Given the description of an element on the screen output the (x, y) to click on. 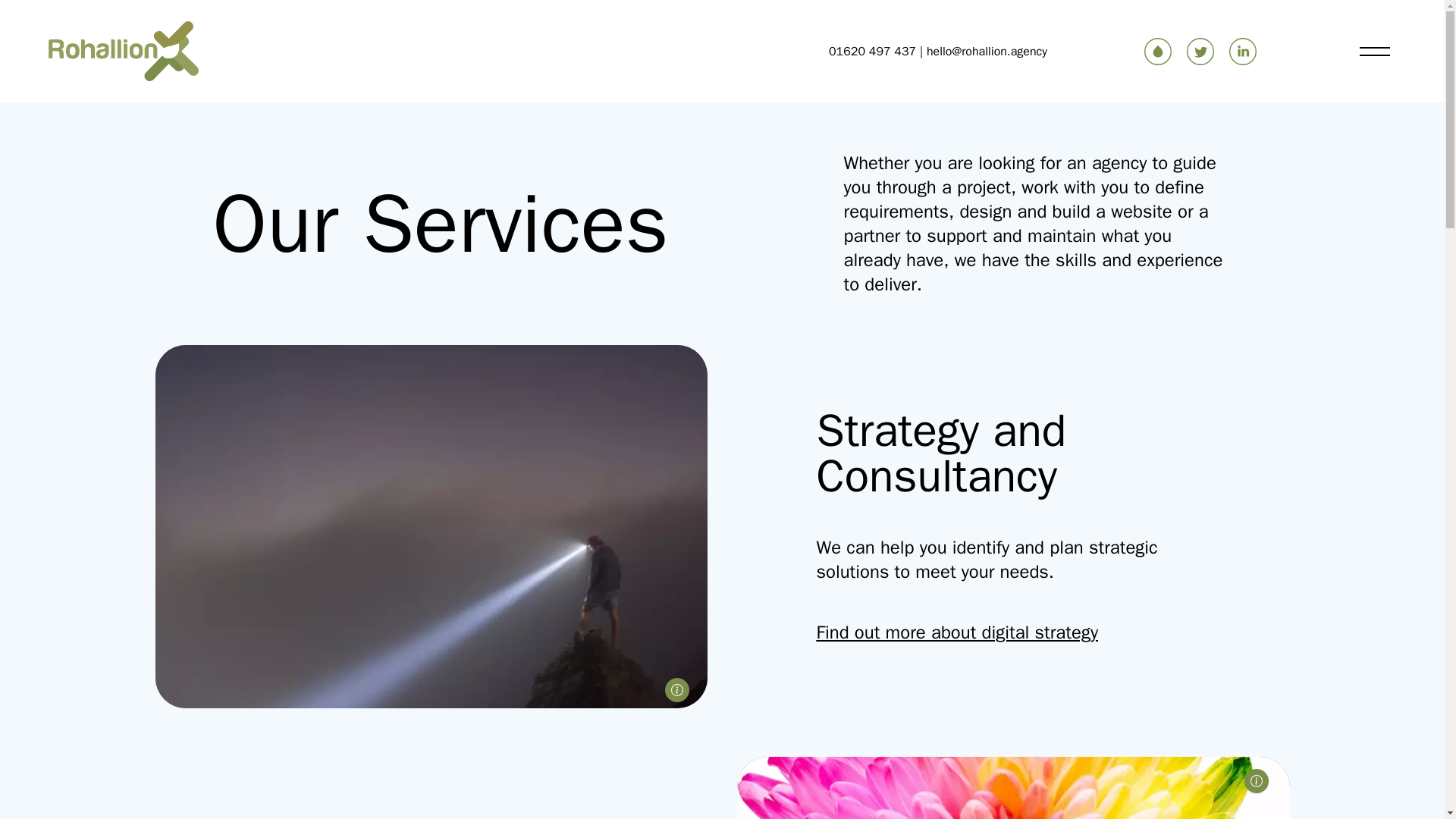
01620 497 437 (871, 51)
Find out more about digital strategy (956, 631)
